Given the description of an element on the screen output the (x, y) to click on. 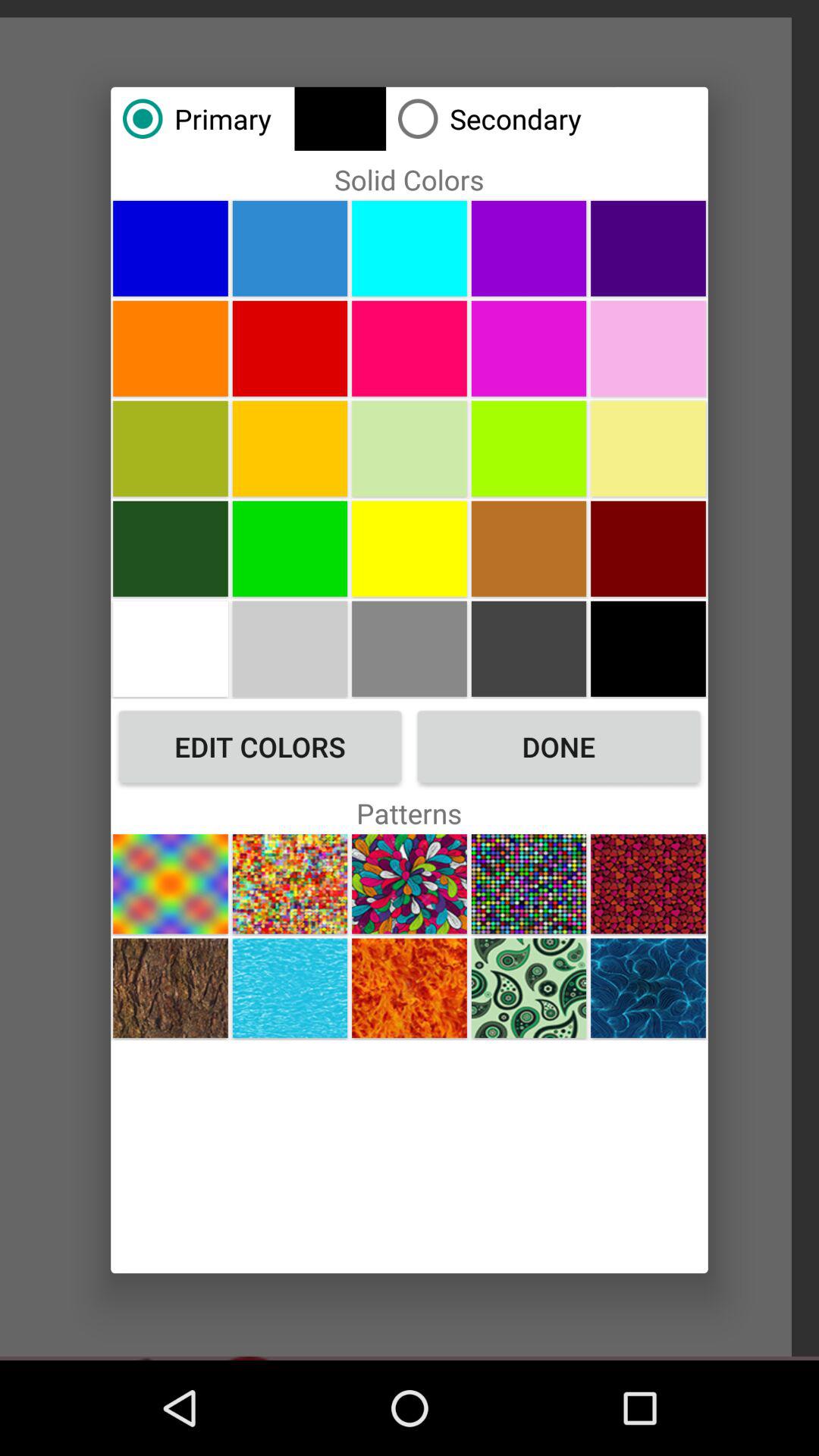
select color red (289, 348)
